Given the description of an element on the screen output the (x, y) to click on. 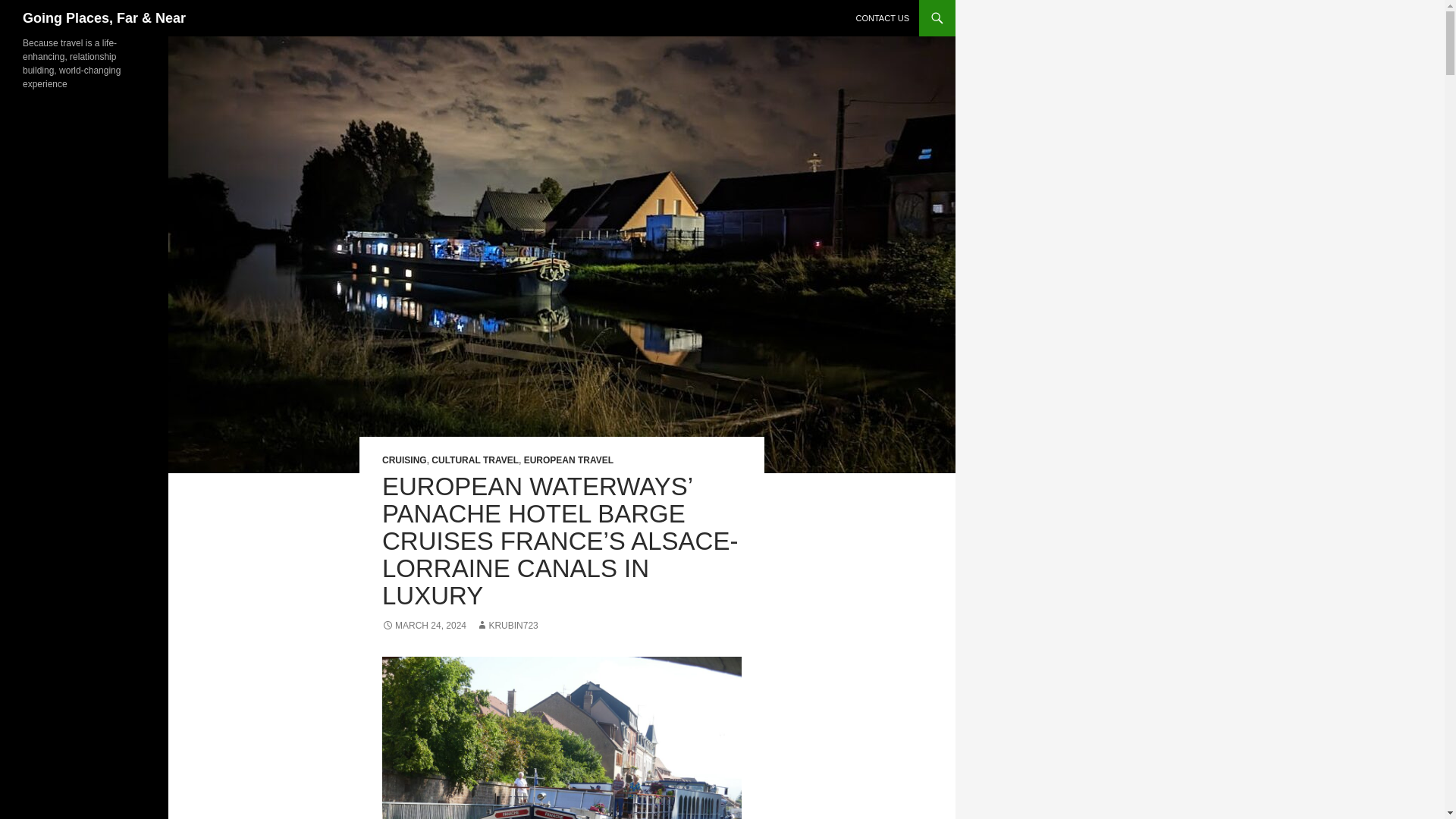
EUROPEAN TRAVEL (568, 460)
KRUBIN723 (506, 624)
CULTURAL TRAVEL (474, 460)
CRUISING (403, 460)
MARCH 24, 2024 (423, 624)
CONTACT US (881, 18)
